Given the description of an element on the screen output the (x, y) to click on. 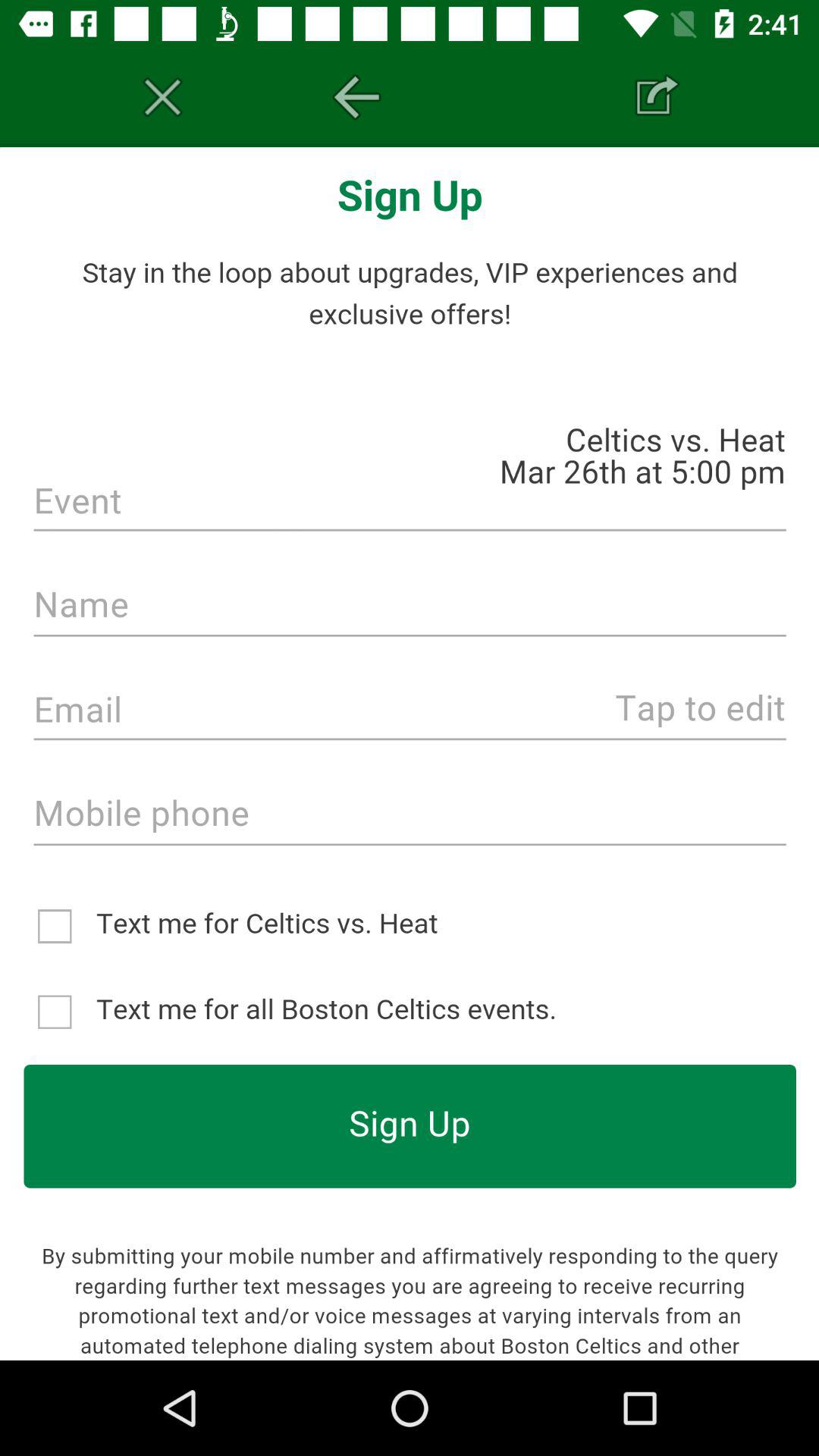
send (656, 97)
